Given the description of an element on the screen output the (x, y) to click on. 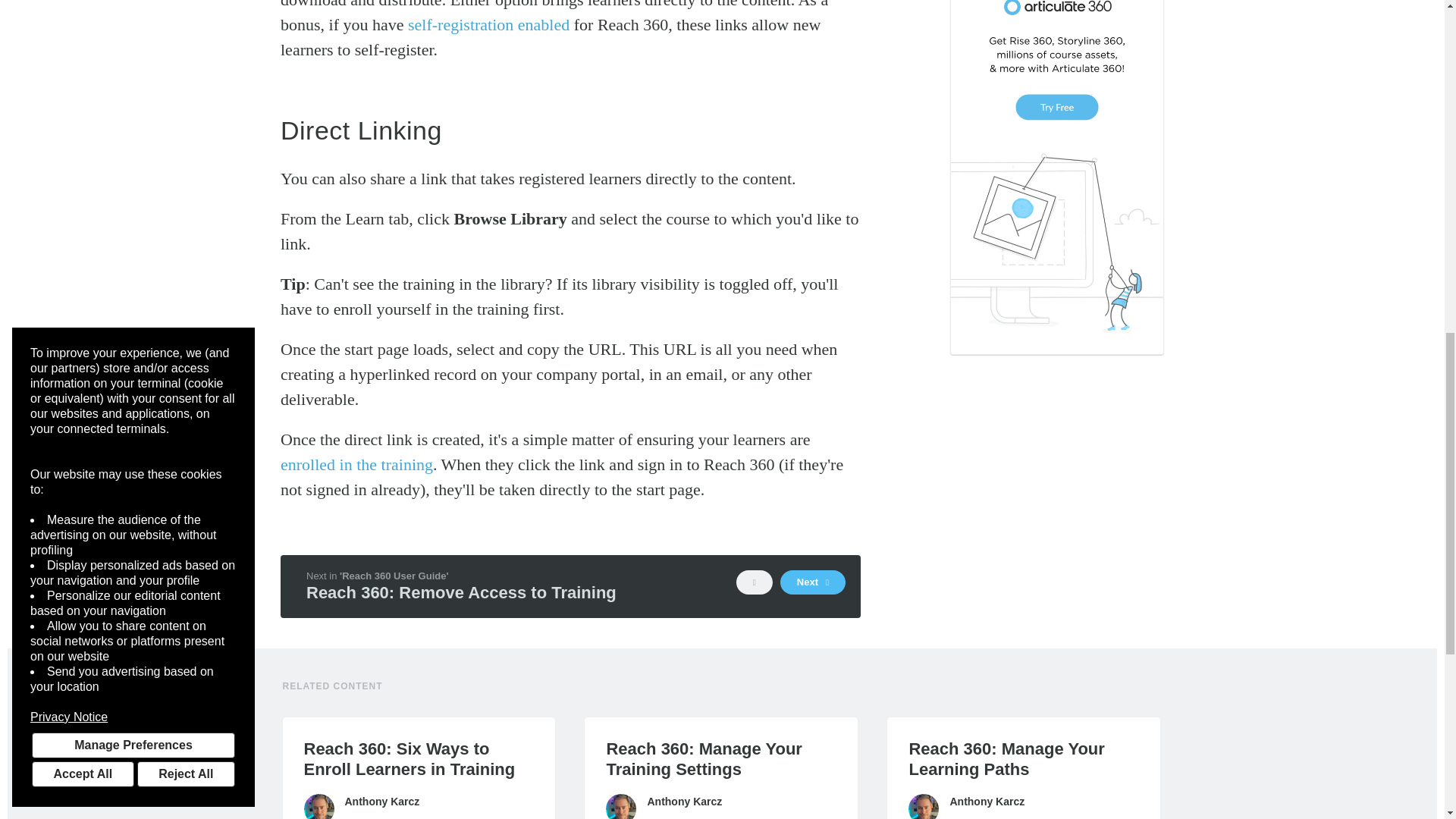
Reach 360: Manage Your Training Settings (720, 758)
Anthony Karcz (317, 806)
Reach 360: Six Ways to Enroll Learners in Training (418, 758)
Anthony Karcz (620, 806)
Reach 360: Manage Your Learning Paths (1023, 758)
Anthony Karcz (923, 806)
